Given the description of an element on the screen output the (x, y) to click on. 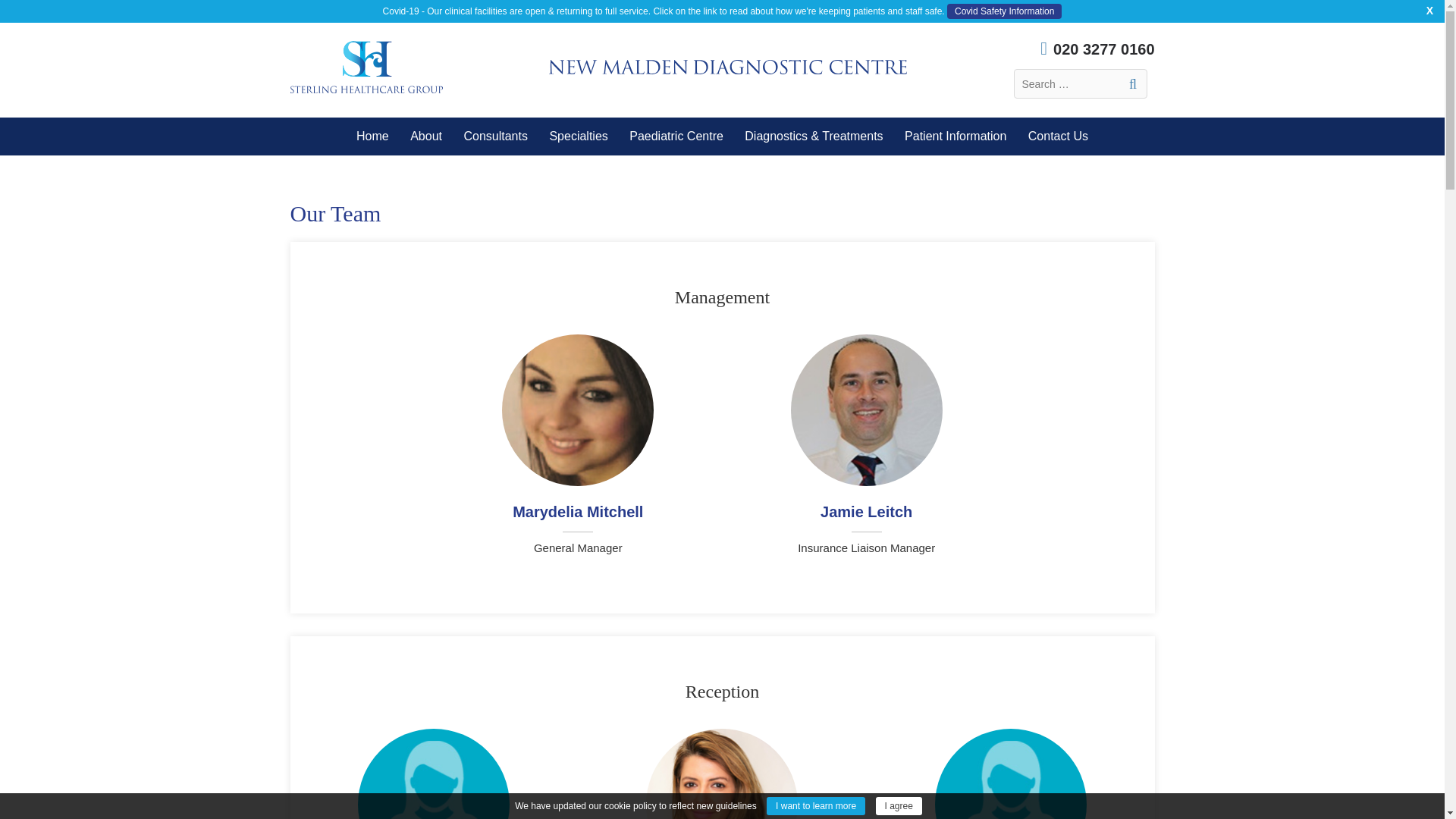
Home (372, 136)
New Malden Diagnostic Centre (727, 66)
About (426, 136)
Paediatric Centre (675, 136)
Specialties (577, 136)
Call Us (1083, 48)
Consultants (495, 136)
Covid Safety Information (1004, 11)
Patient Information (955, 136)
Sterling Healthcare Group (365, 66)
020 3277 0160 (1083, 48)
